Given the description of an element on the screen output the (x, y) to click on. 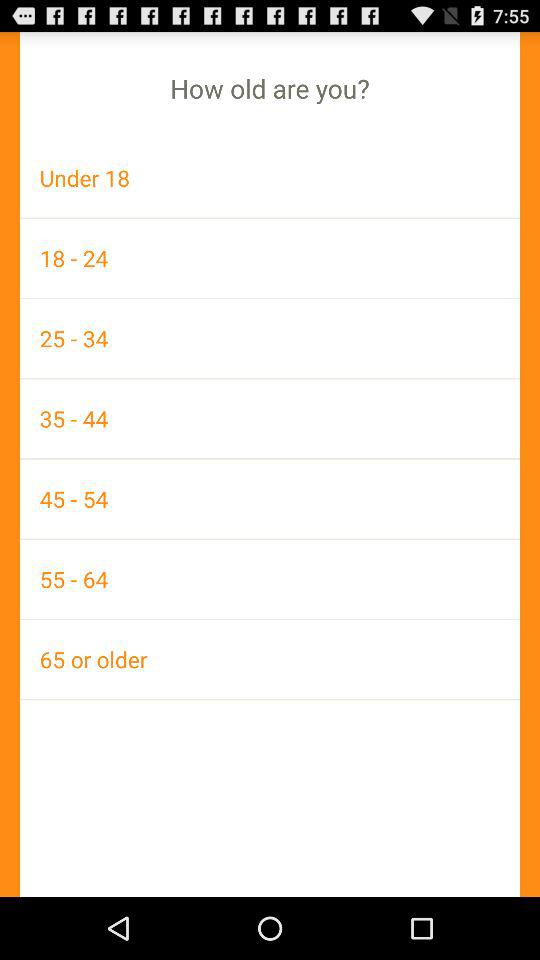
choose the 25 - 34 item (269, 338)
